Given the description of an element on the screen output the (x, y) to click on. 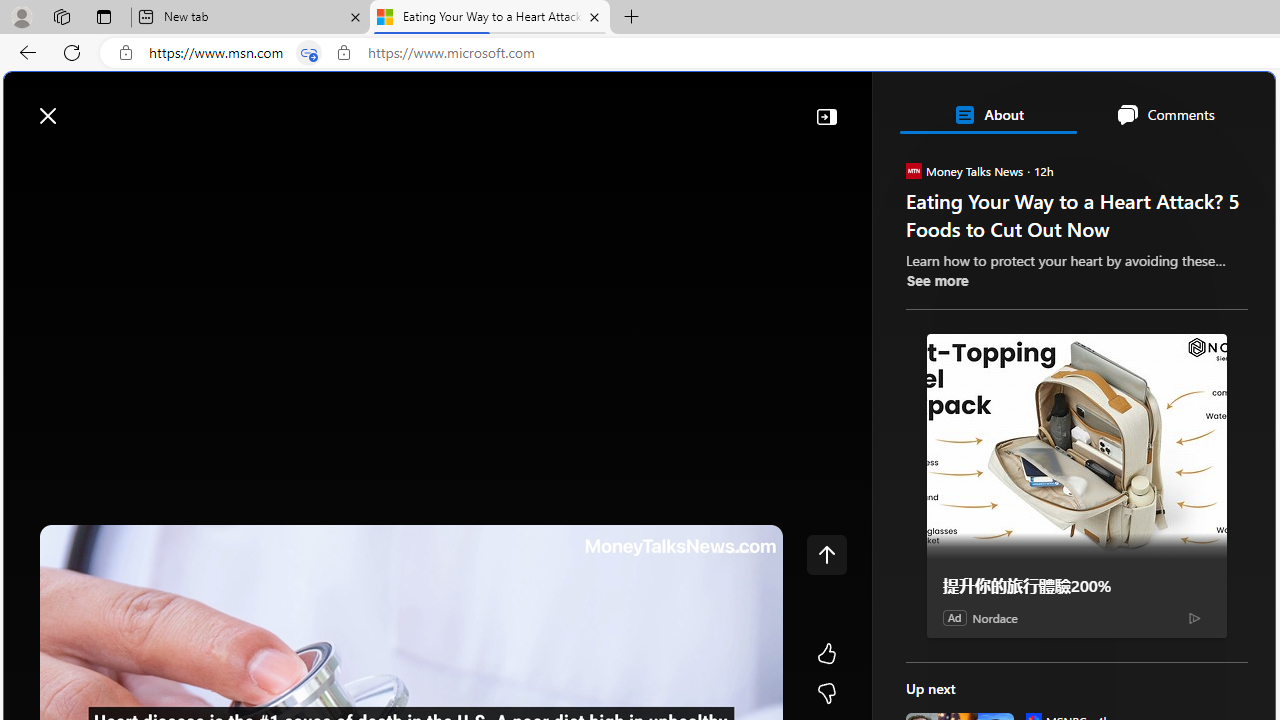
Like (826, 653)
Tabs in split screen (308, 53)
Enter your search term (644, 106)
Money Talks News (912, 170)
